Given the description of an element on the screen output the (x, y) to click on. 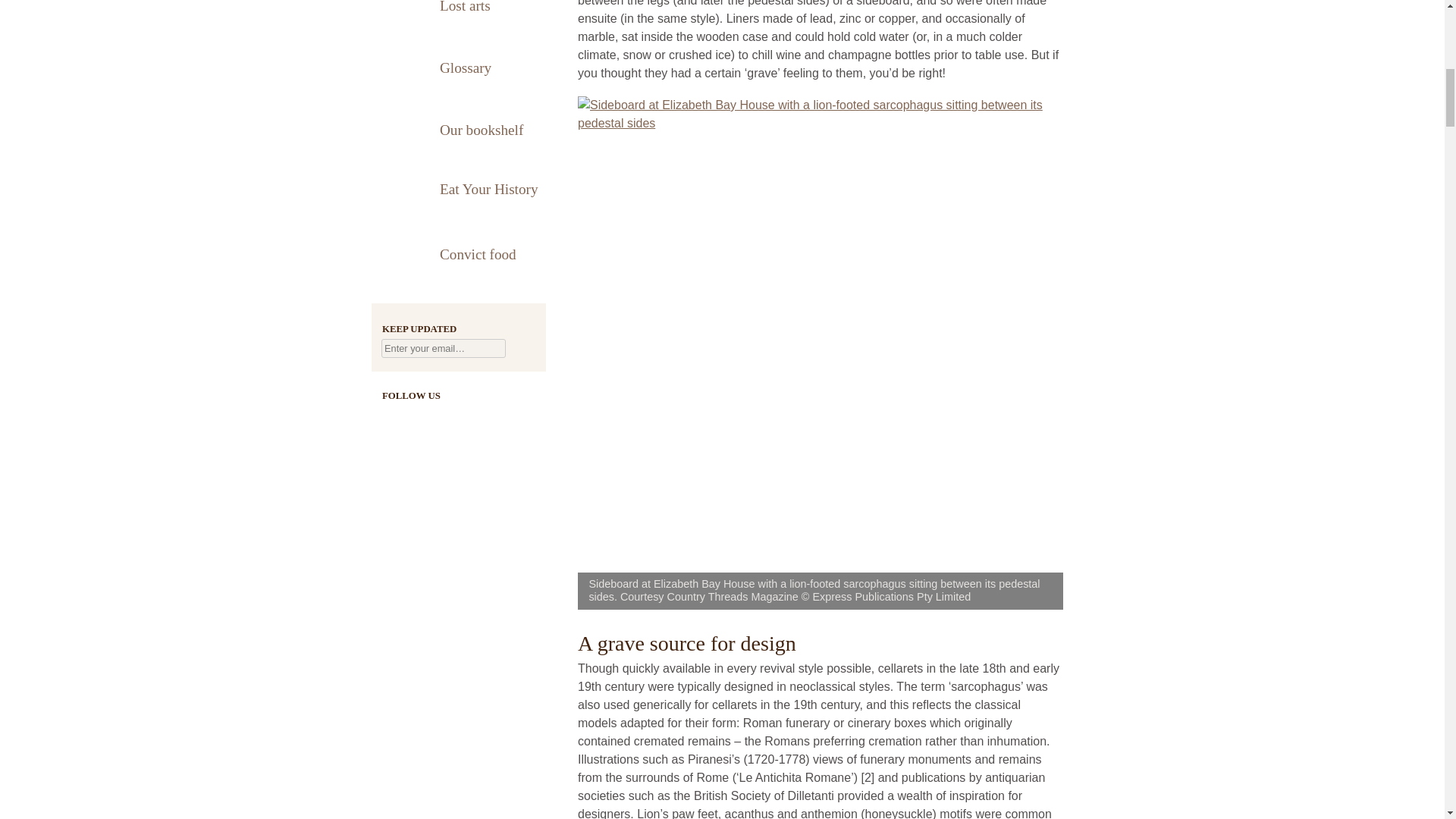
Find us on Facebook (394, 417)
See more videos on Vimeo (478, 417)
Follow us on Twitter (422, 417)
Follow us on Pinterest (450, 417)
Eat Your History (458, 191)
Our bookshelf (458, 129)
Glossary (458, 67)
Find us on Facebook (394, 417)
Go (522, 348)
Follow us on Twitter (422, 417)
